Given the description of an element on the screen output the (x, y) to click on. 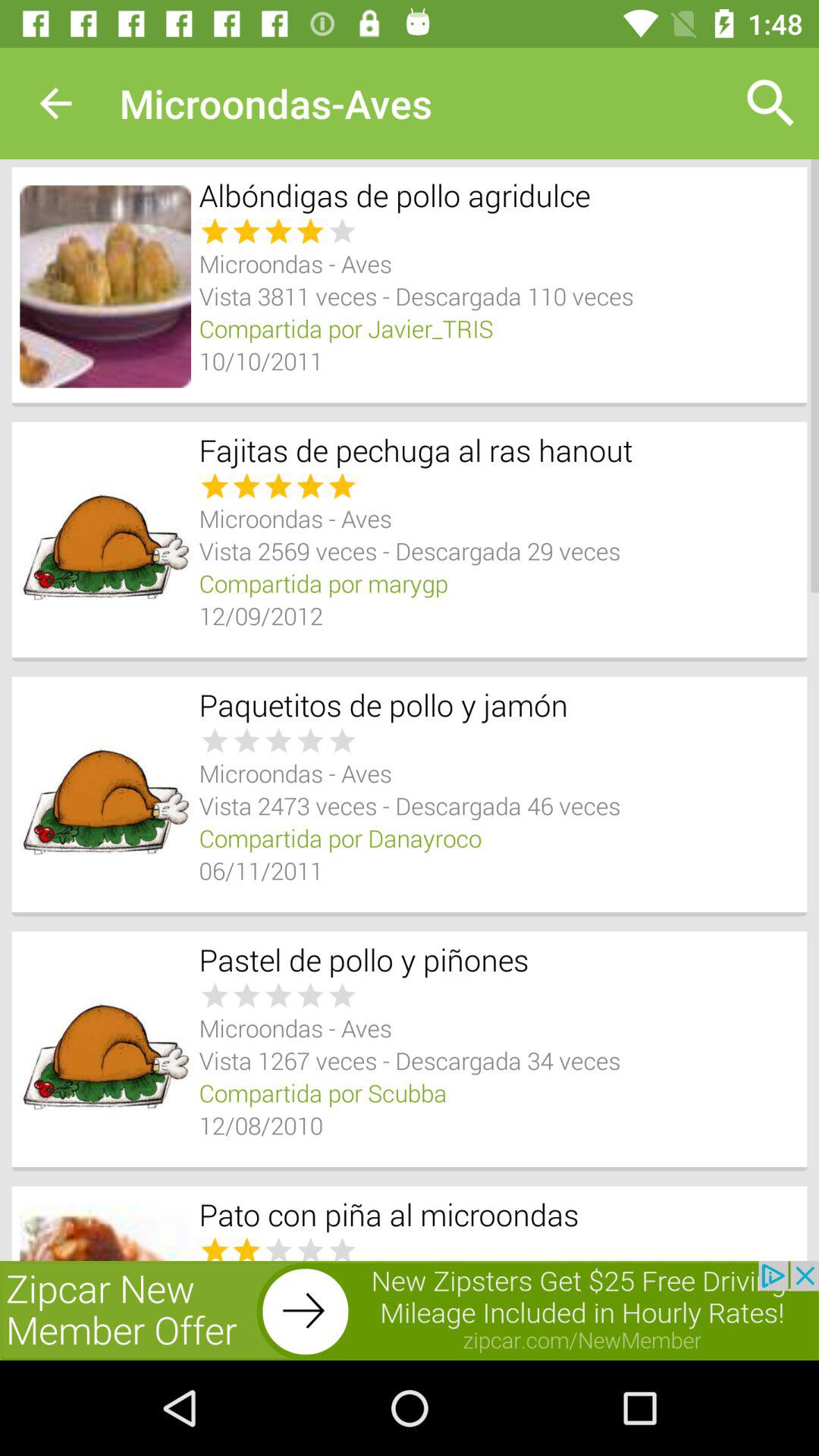
click on the icon beside microondasaves (771, 103)
click the first image of the page left to 10102011 (104, 287)
